Given the description of an element on the screen output the (x, y) to click on. 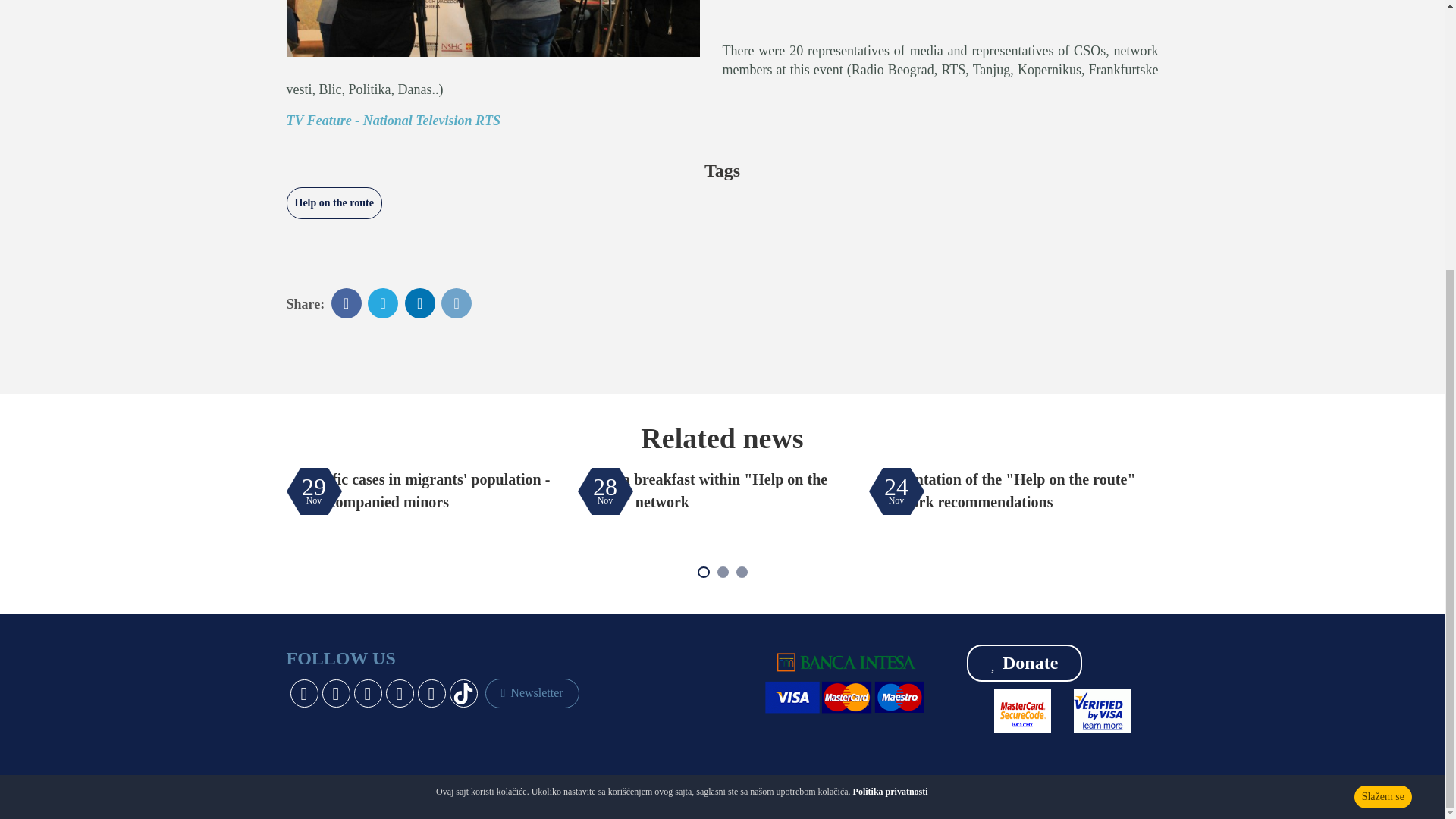
Media breakfast within "Help on the route" network (707, 490)
Help on the route (333, 203)
TV Feature - National Television RTS (393, 120)
